Given the description of an element on the screen output the (x, y) to click on. 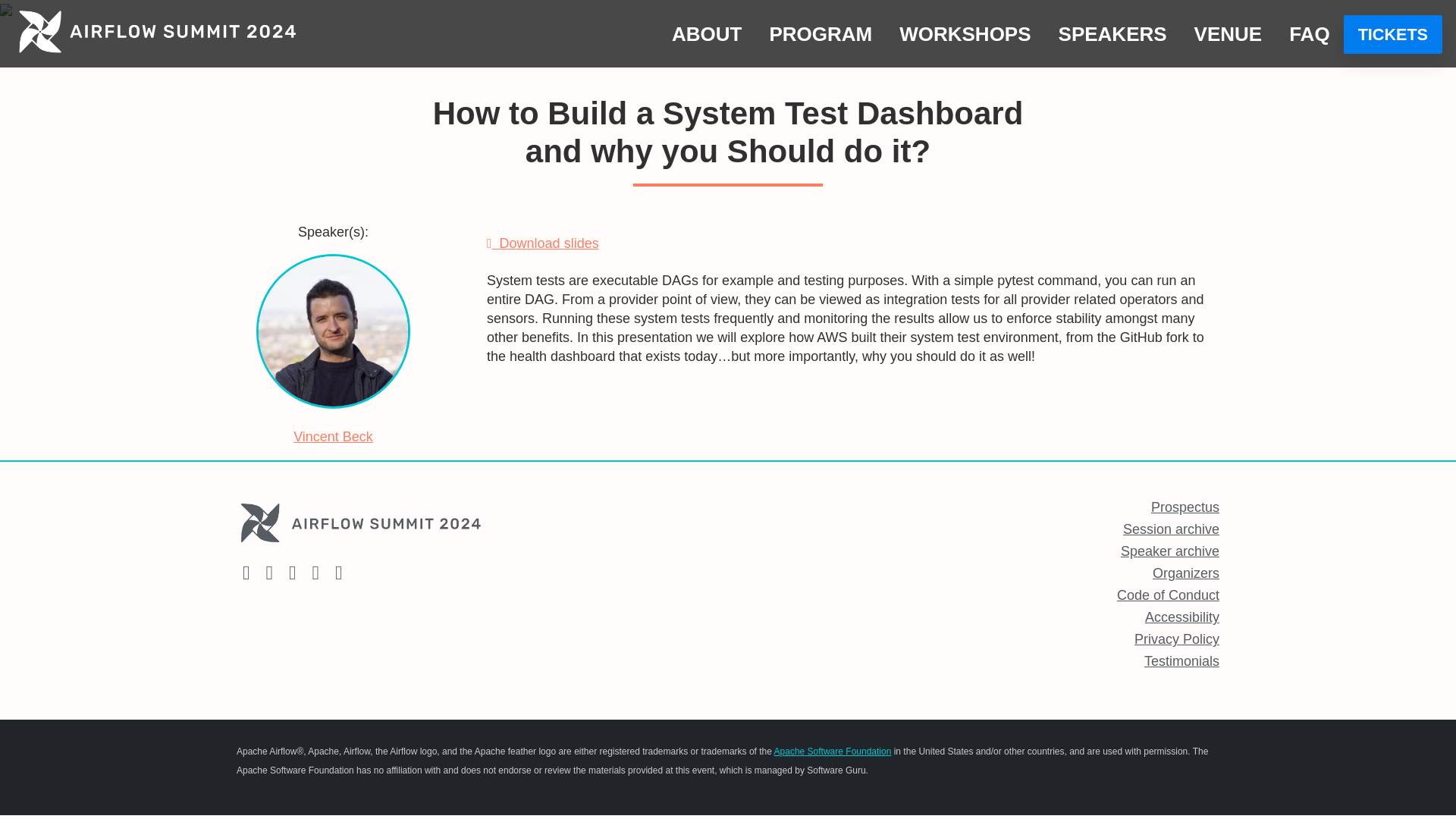
Prospectus (1185, 507)
ABOUT (706, 33)
Privacy Policy (1177, 639)
WORKSHOPS (964, 33)
TICKETS (1392, 34)
Code of Conduct (1168, 595)
  Download slides (542, 242)
Session archive (1171, 529)
Speaker archive (1170, 550)
Organizers (1186, 572)
Testimonials (1182, 661)
Accessibility (1182, 616)
Apache Software Foundation (832, 751)
VENUE (1228, 33)
SPEAKERS (1112, 33)
